Given the description of an element on the screen output the (x, y) to click on. 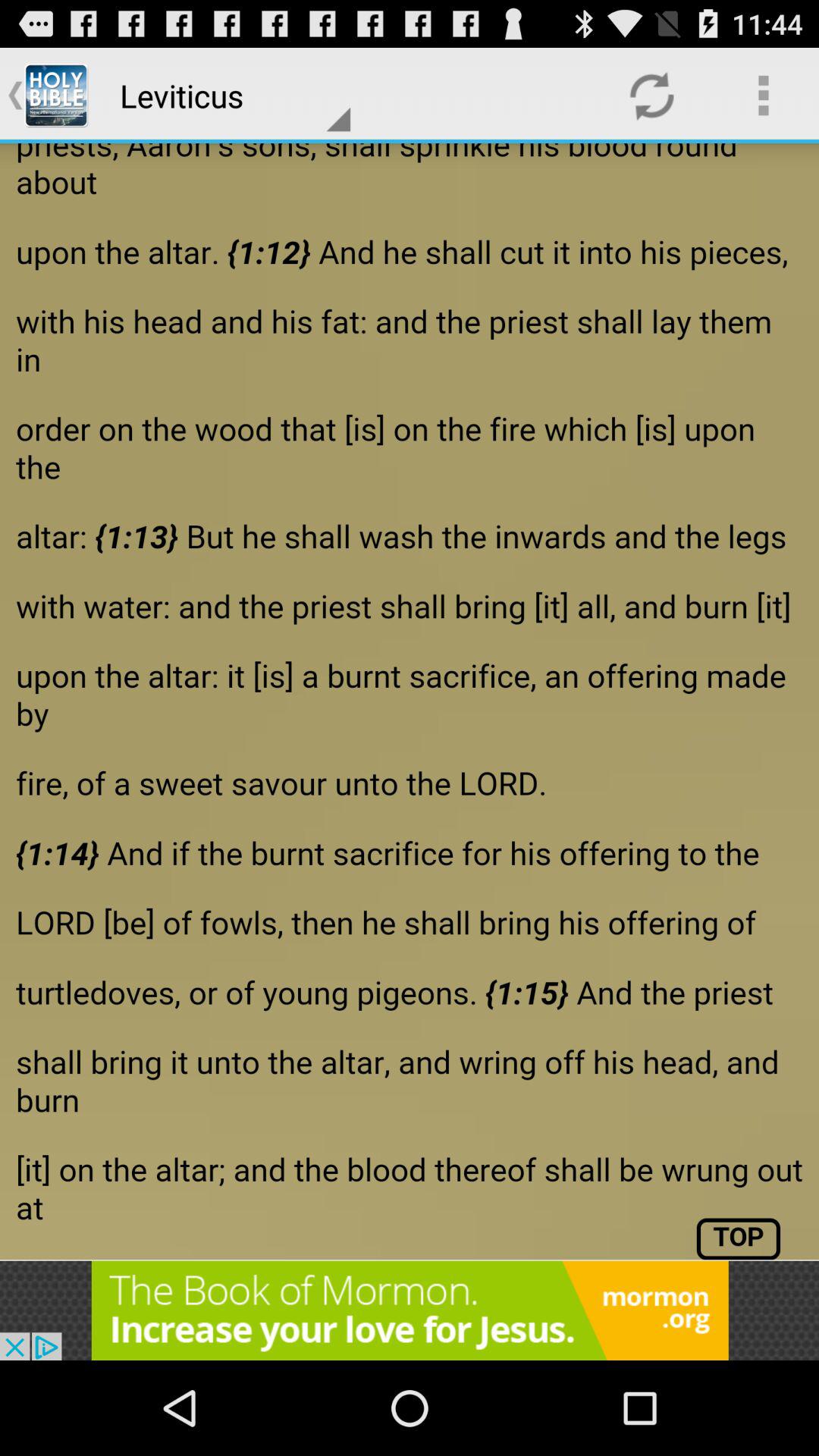
leviticus details (409, 701)
